Given the description of an element on the screen output the (x, y) to click on. 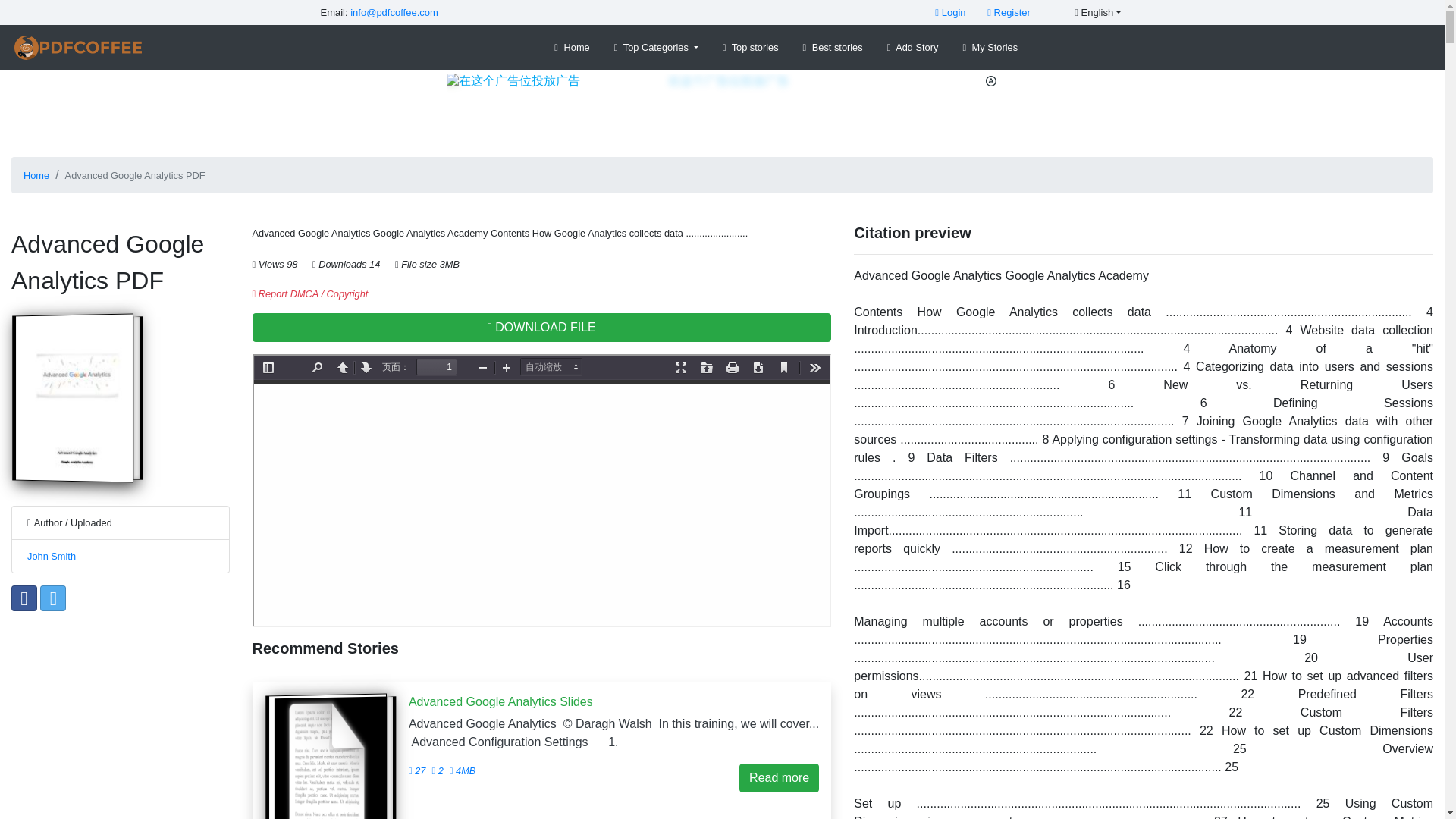
Top Categories (656, 47)
DOWNLOAD FILE (541, 327)
John Smith (51, 555)
Home (571, 47)
Top stories (750, 47)
Add Story (912, 47)
Login (949, 12)
Best stories (832, 47)
My Stories (989, 47)
Register (1008, 12)
Home (36, 174)
